Given the description of an element on the screen output the (x, y) to click on. 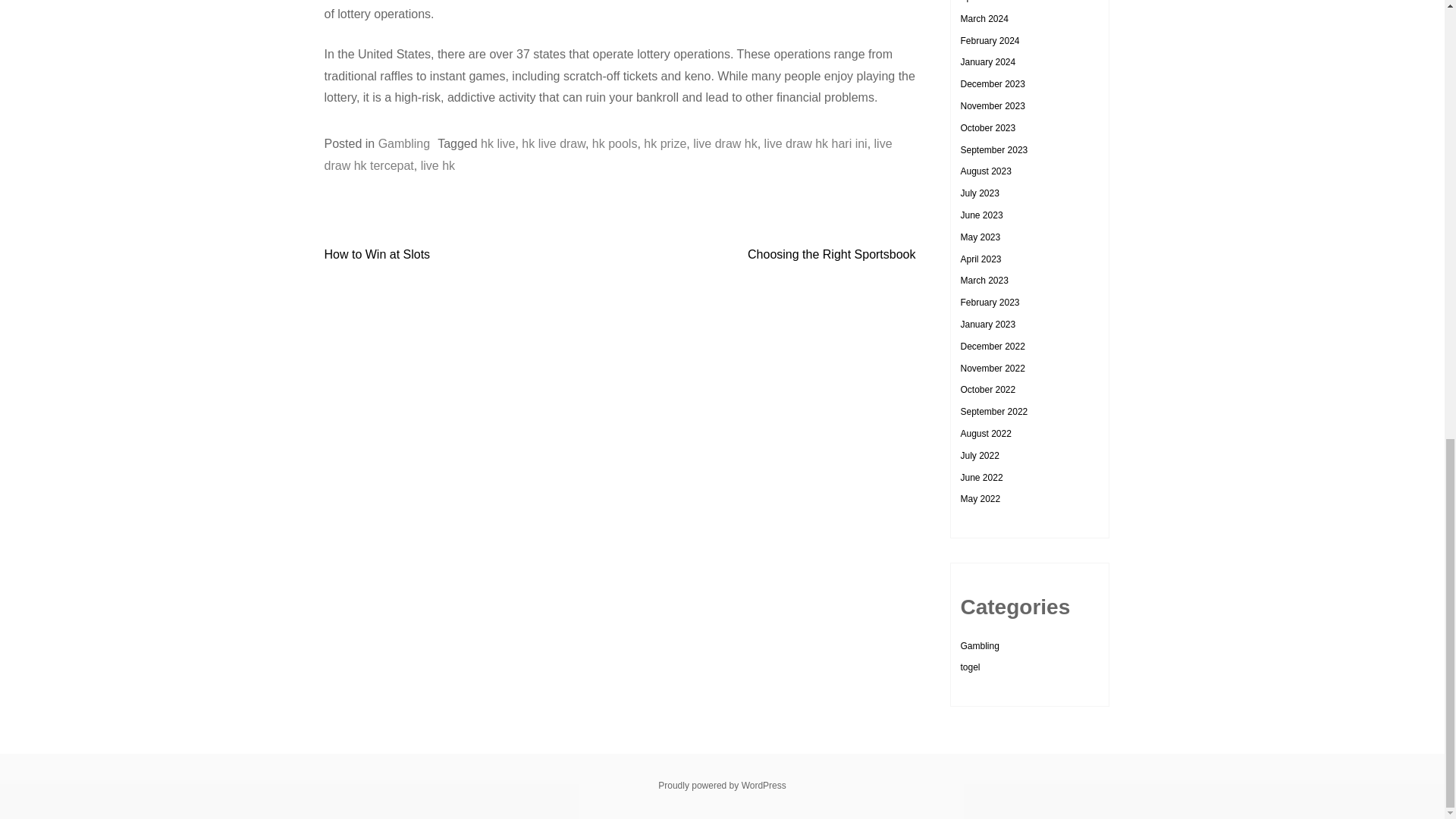
September 2023 (993, 149)
Choosing the Right Sportsbook (831, 254)
live draw hk hari ini (815, 143)
live draw hk tercepat (608, 154)
How to Win at Slots (377, 254)
hk prize (664, 143)
hk live (497, 143)
January 2024 (986, 61)
August 2023 (984, 171)
April 2024 (980, 1)
February 2024 (989, 40)
March 2024 (983, 18)
hk live draw (553, 143)
live draw hk (725, 143)
Gambling (403, 143)
